Given the description of an element on the screen output the (x, y) to click on. 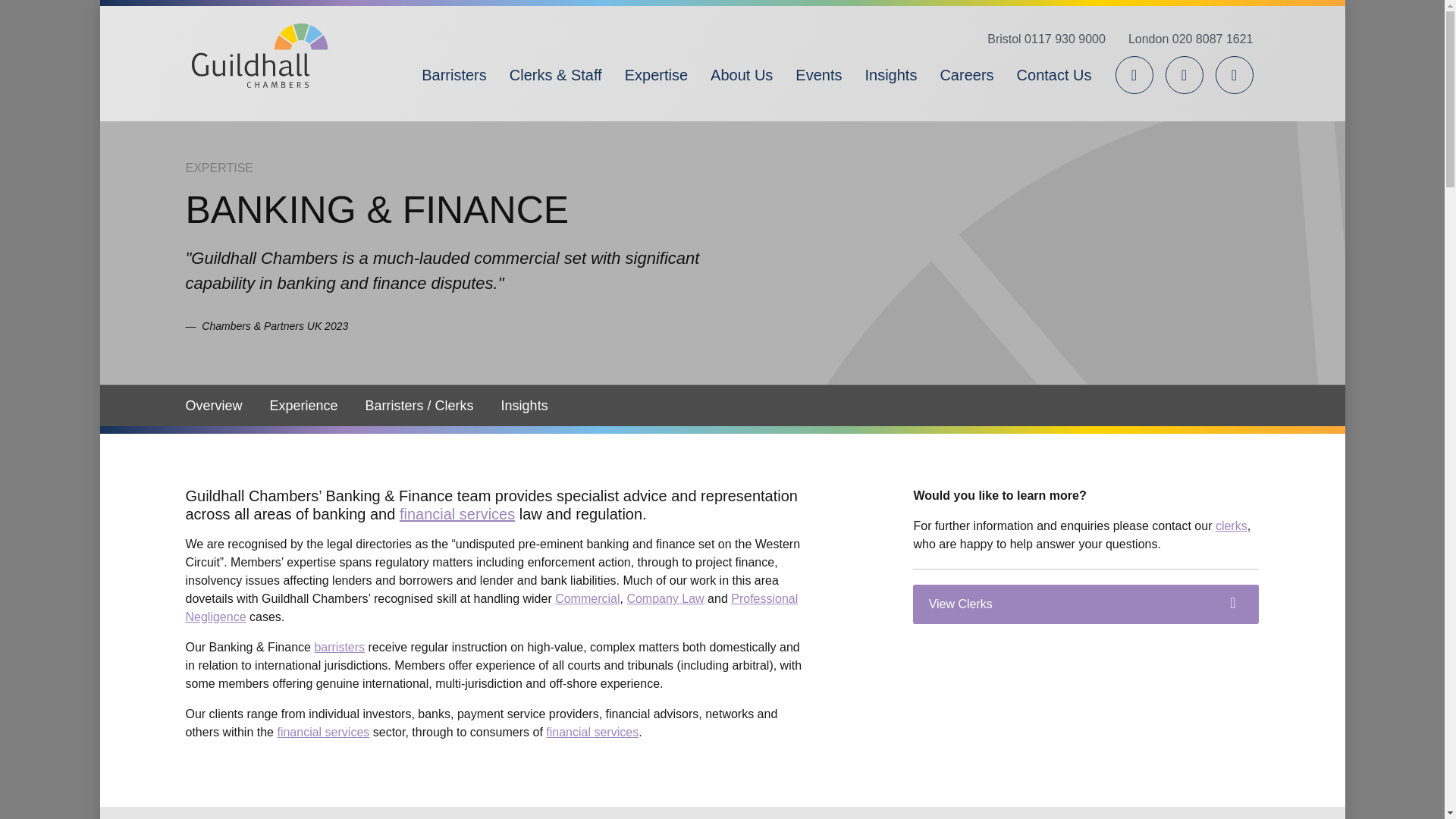
Experience (304, 404)
Events (818, 74)
London 020 8087 1621 (1184, 39)
Expertise (655, 74)
About Us (741, 74)
Insights (524, 404)
Bristol 0117 930 9000 (1045, 39)
Careers (966, 74)
Barristers (453, 74)
View Clerks (1085, 604)
Overview (220, 404)
Insights (890, 74)
